Given the description of an element on the screen output the (x, y) to click on. 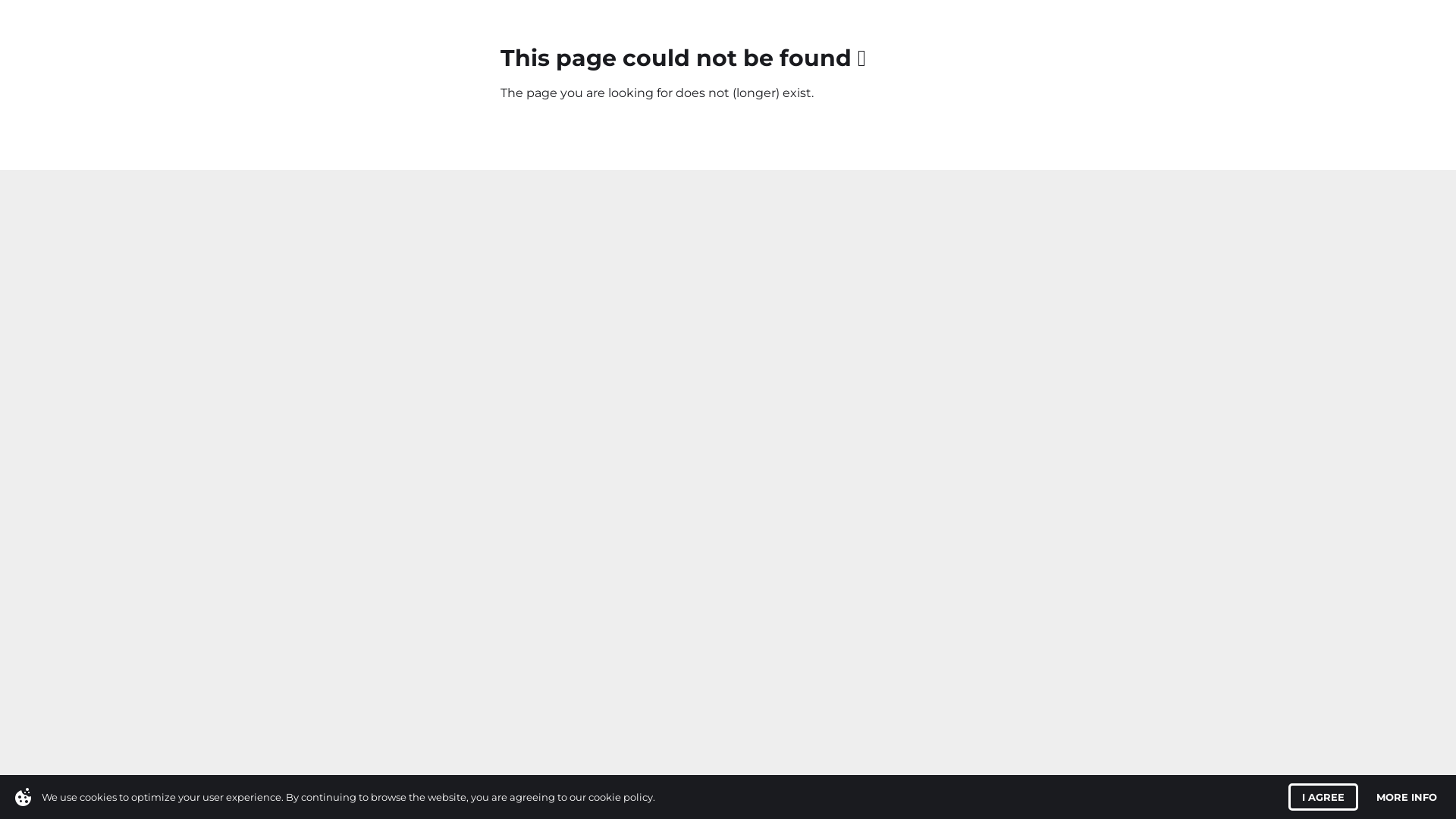
MORE INFO Element type: text (1406, 796)
I AGREE Element type: text (1323, 796)
